Given the description of an element on the screen output the (x, y) to click on. 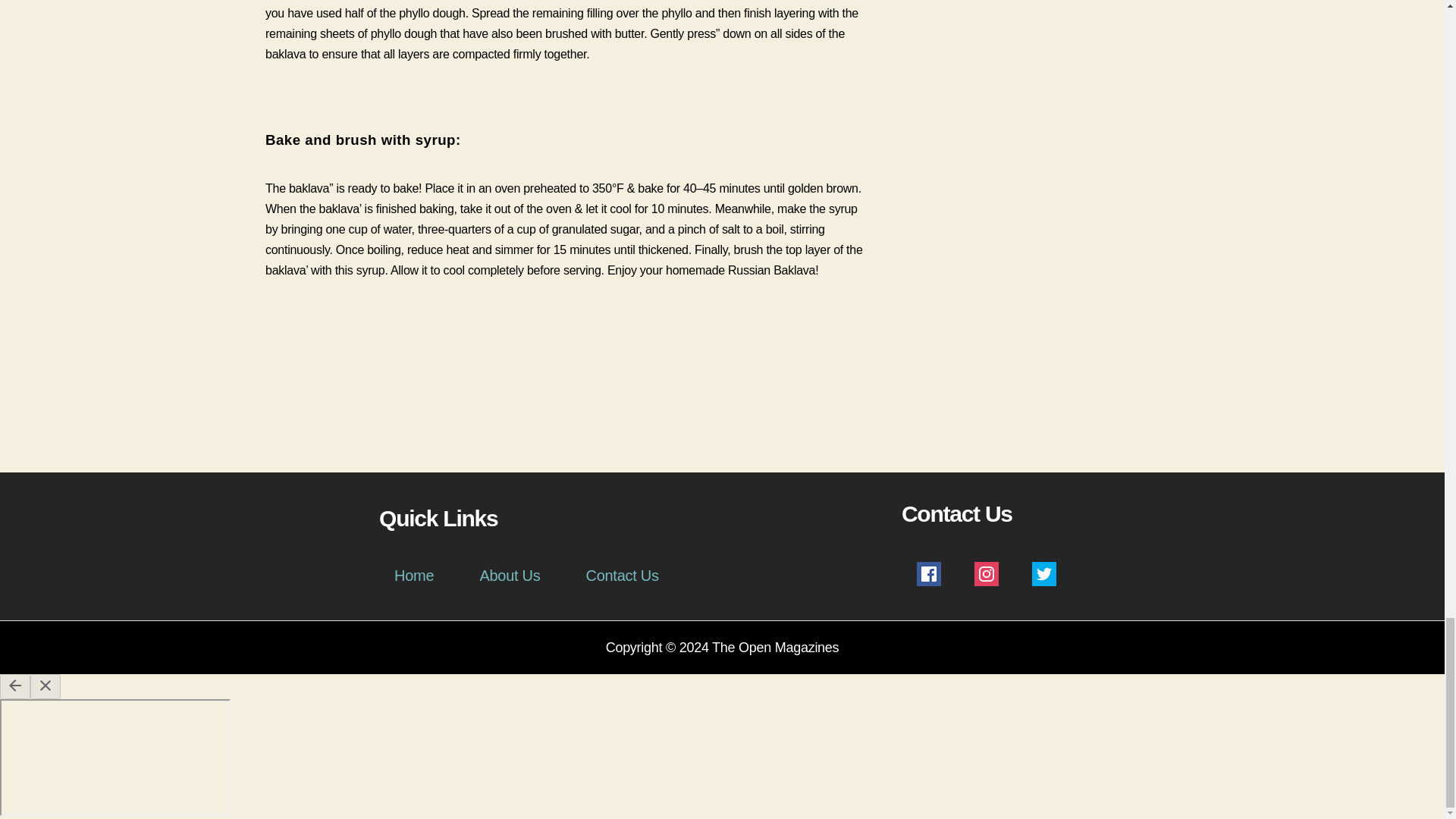
Home (413, 575)
About Us (509, 575)
Contact Us (621, 575)
